Given the description of an element on the screen output the (x, y) to click on. 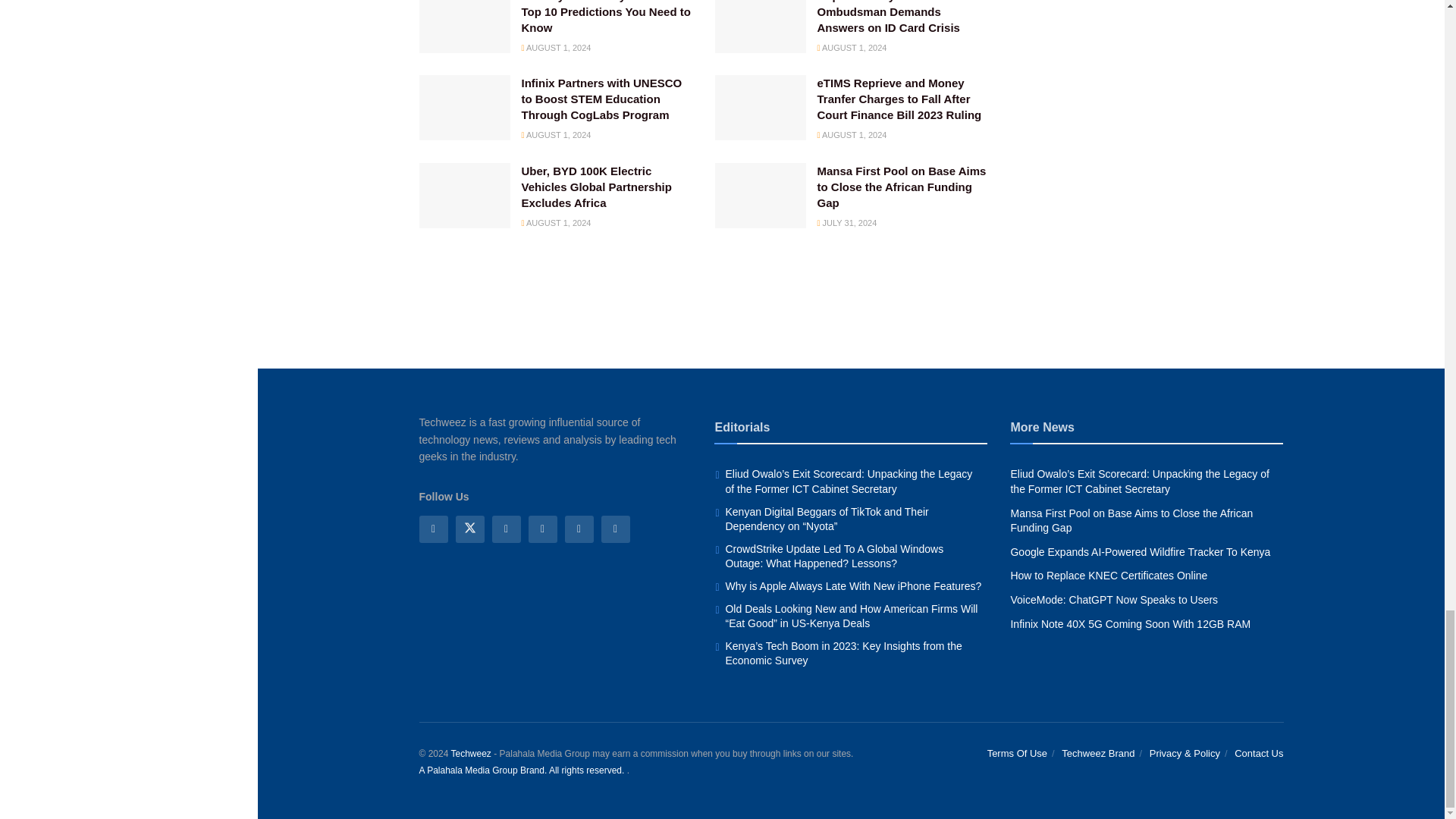
Techweez, a Palahala Media Group Brand. All rights reserved (469, 753)
